Given the description of an element on the screen output the (x, y) to click on. 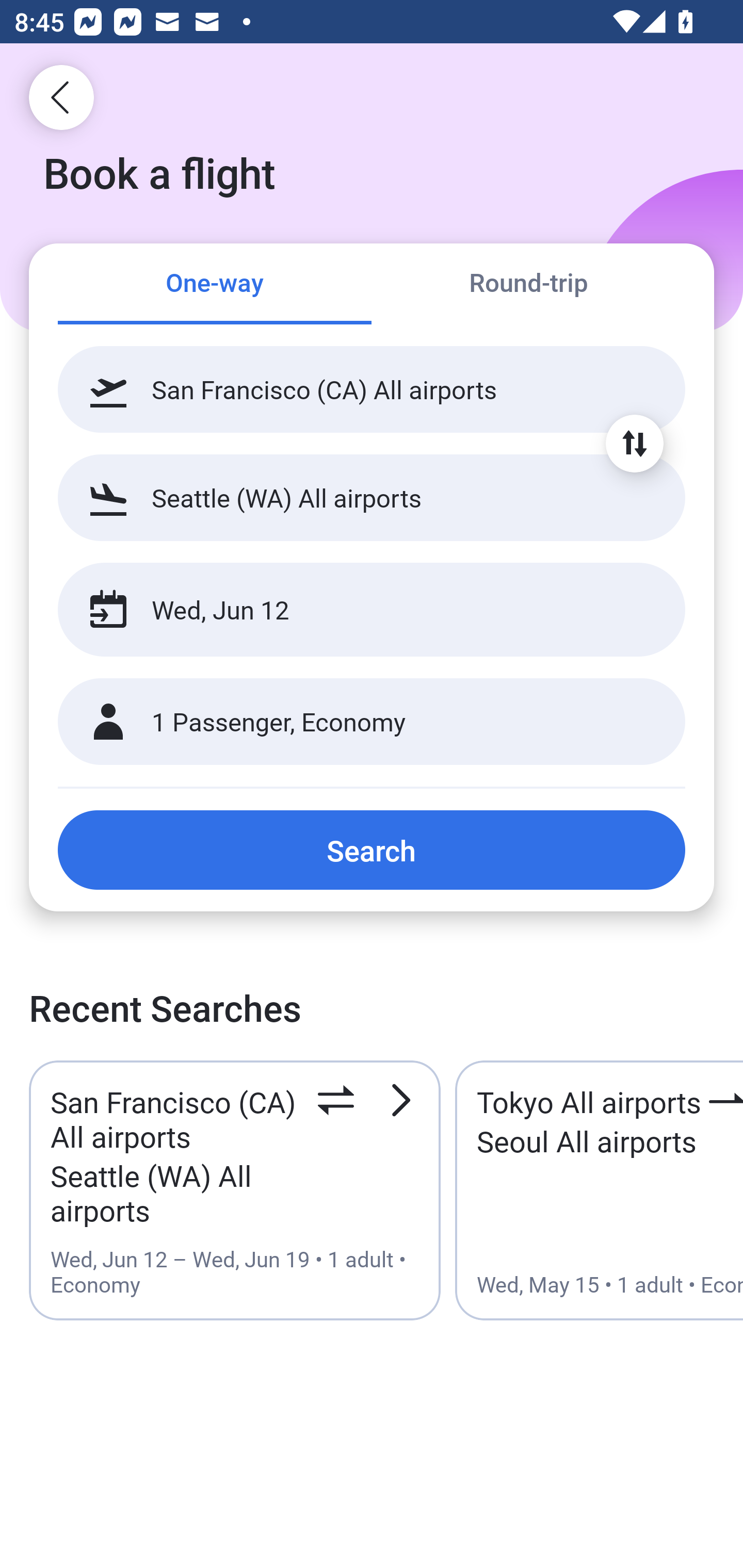
Round-trip (528, 284)
San Francisco (CA) All airports (371, 389)
Seattle (WA) All airports (371, 497)
Wed, Jun 12 (349, 609)
1 Passenger, Economy (371, 721)
Search (371, 849)
